Given the description of an element on the screen output the (x, y) to click on. 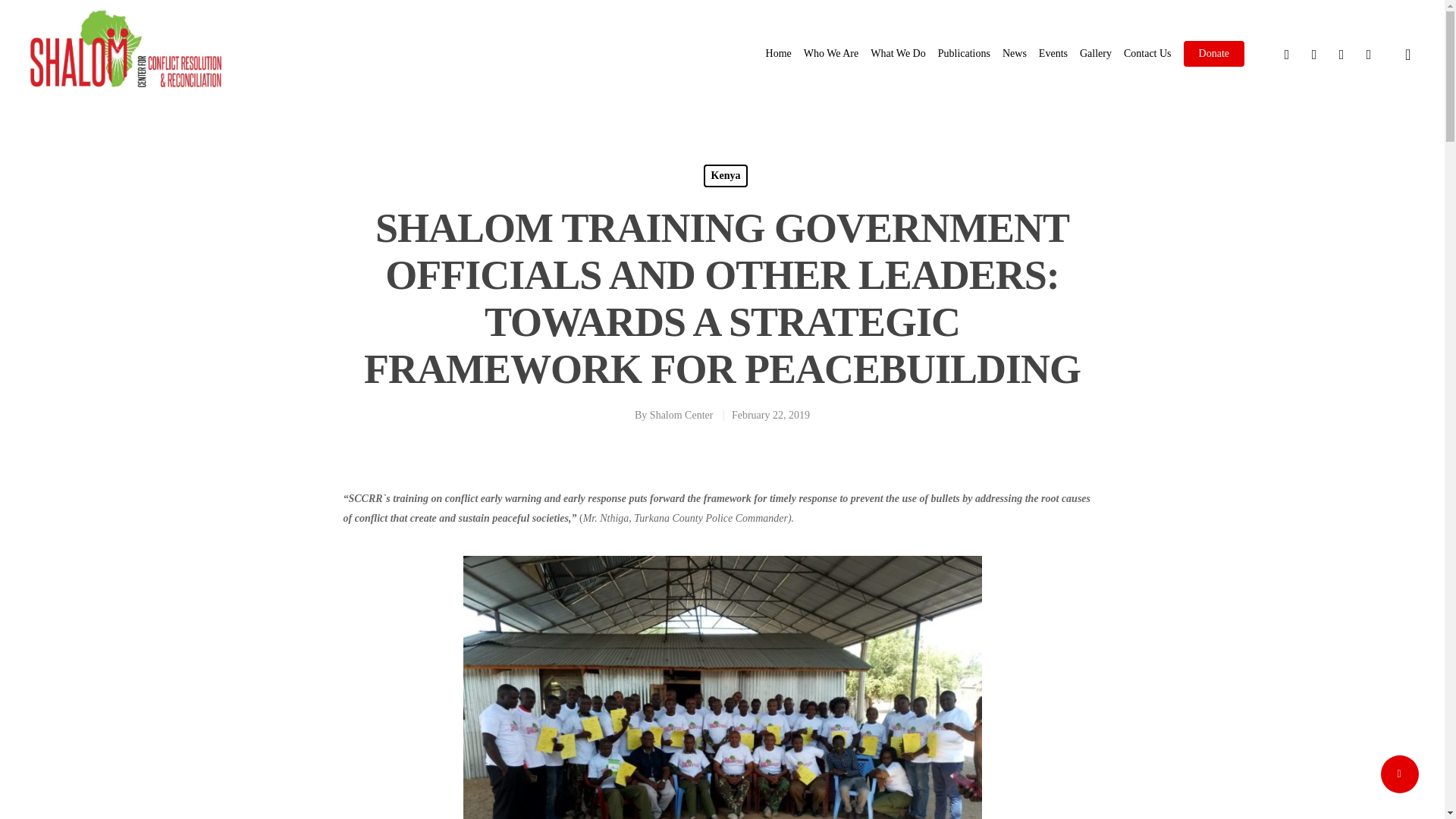
Kenya (725, 175)
Publications (963, 53)
Donate (1213, 53)
Home (778, 53)
What We Do (897, 53)
Contact Us (1148, 53)
Posts by Shalom Center (681, 414)
Shalom Center (681, 414)
News (1014, 53)
Who We Are (831, 53)
Gallery (1096, 53)
Events (1053, 53)
